Given the description of an element on the screen output the (x, y) to click on. 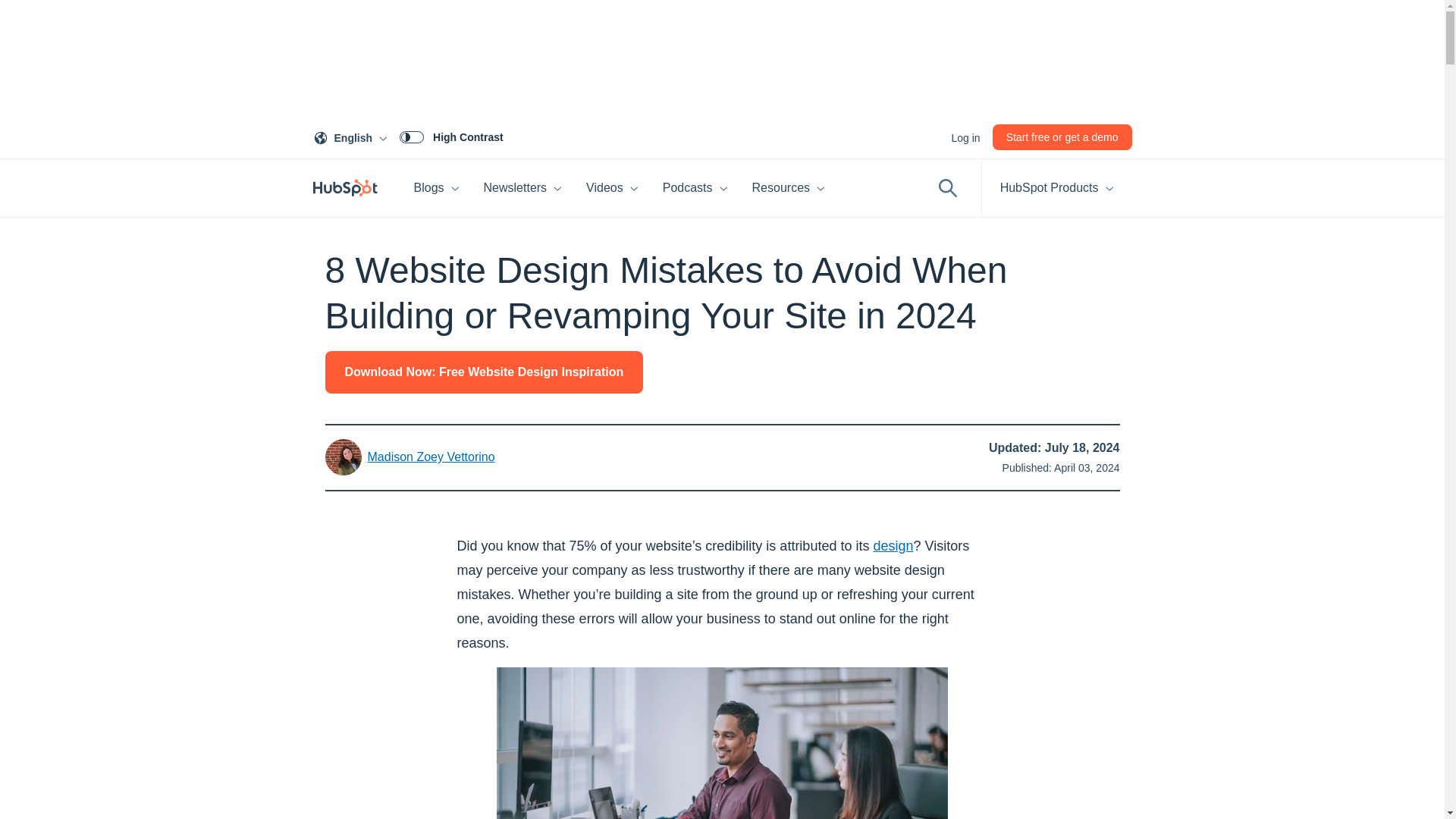
Newsletters (523, 187)
Log in (353, 136)
Blogs (964, 137)
High Contrast (436, 187)
Videos (450, 137)
Start free or get a demo (611, 187)
